Given the description of an element on the screen output the (x, y) to click on. 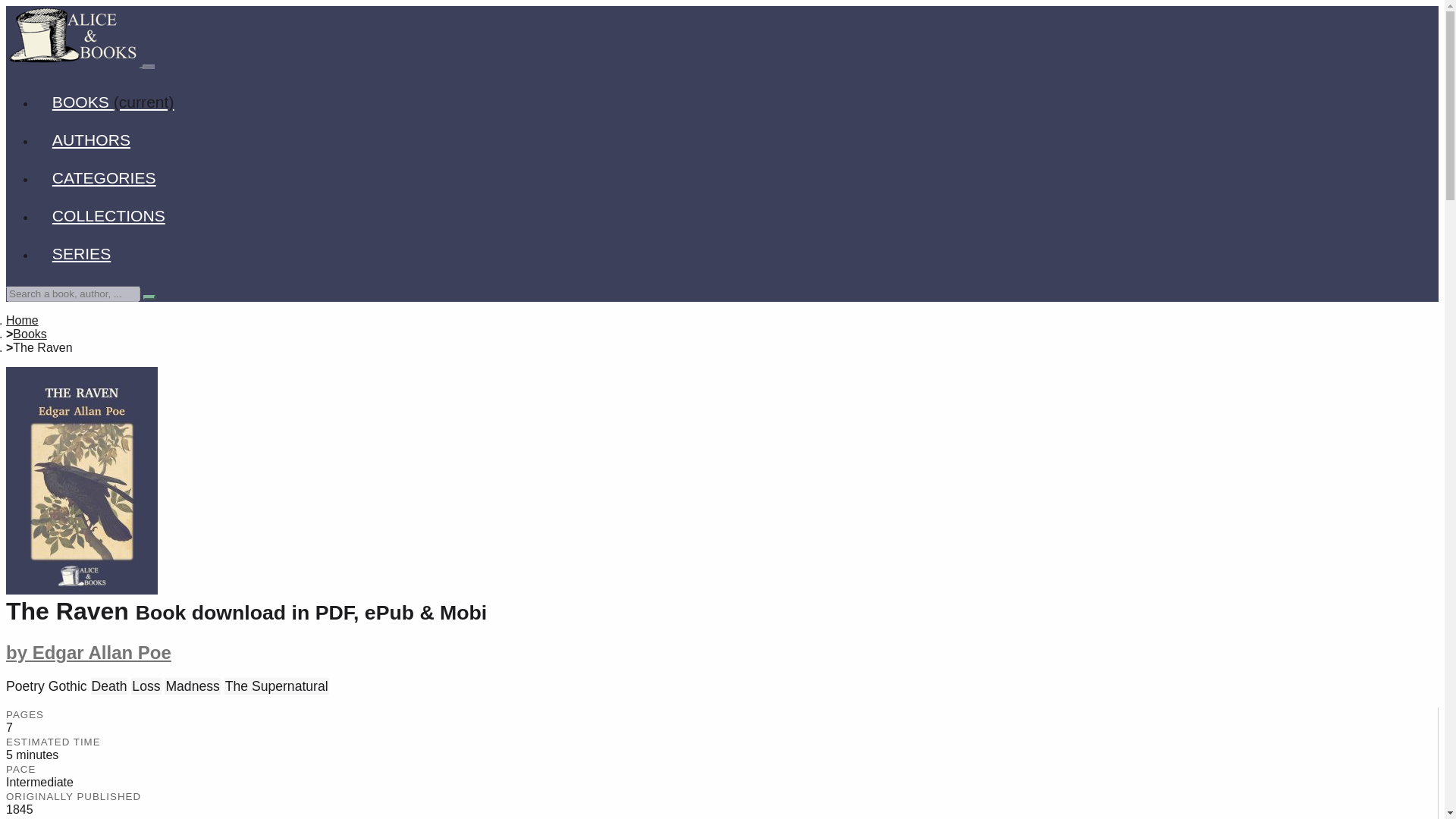
COLLECTIONS (108, 215)
Home (22, 319)
by Edgar Allan Poe (88, 652)
SERIES (81, 253)
Books (29, 333)
CATEGORIES (103, 177)
AUTHORS (91, 139)
